Given the description of an element on the screen output the (x, y) to click on. 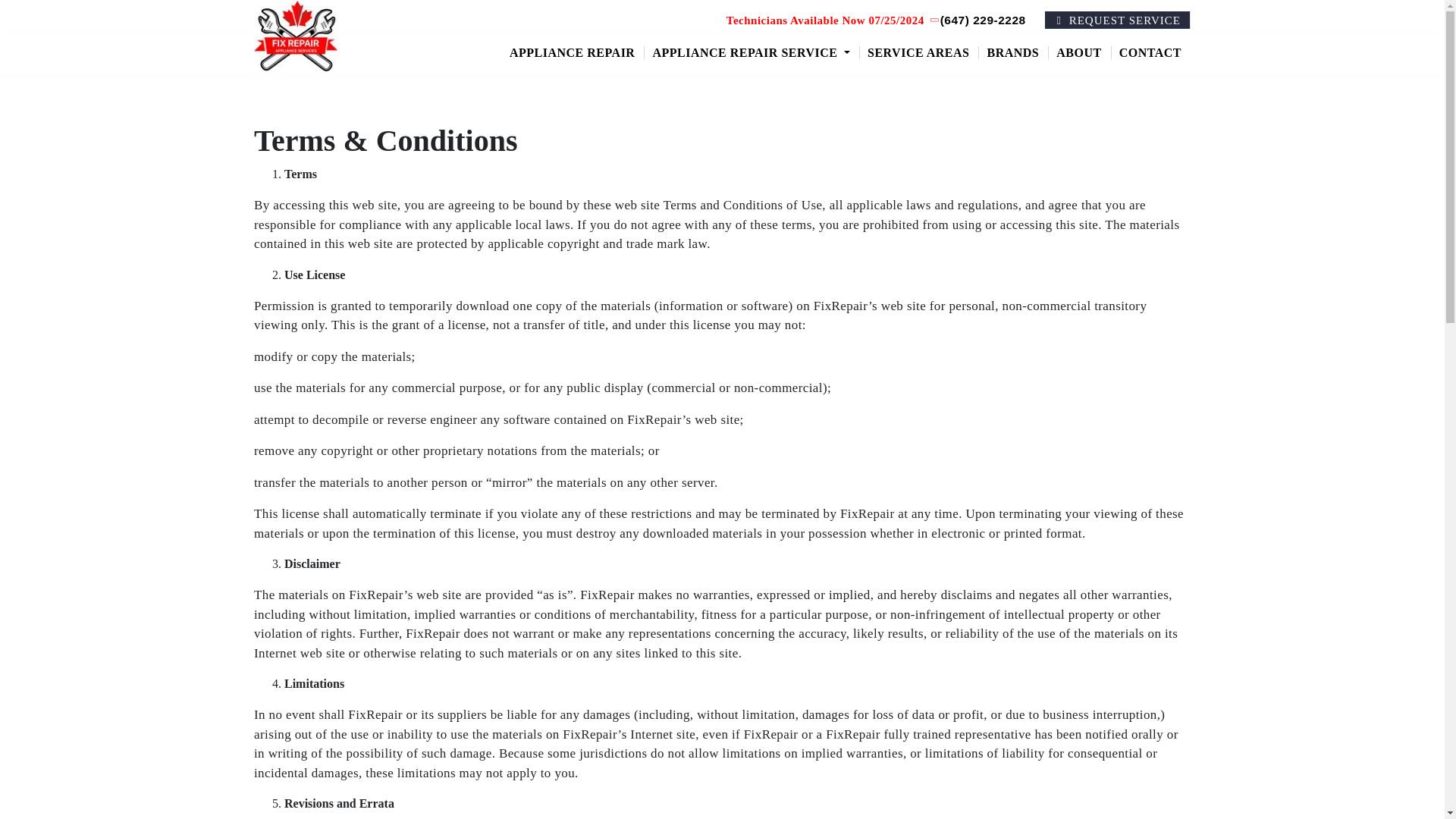
APPLIANCE REPAIR (573, 51)
ABOUT (1079, 51)
Call Us (978, 19)
SERVICE AREAS (919, 51)
APPLIANCE REPAIR SERVICE (752, 51)
BRANDS (1013, 51)
CONTACT (1151, 51)
REQUEST SERVICE (1118, 19)
